Given the description of an element on the screen output the (x, y) to click on. 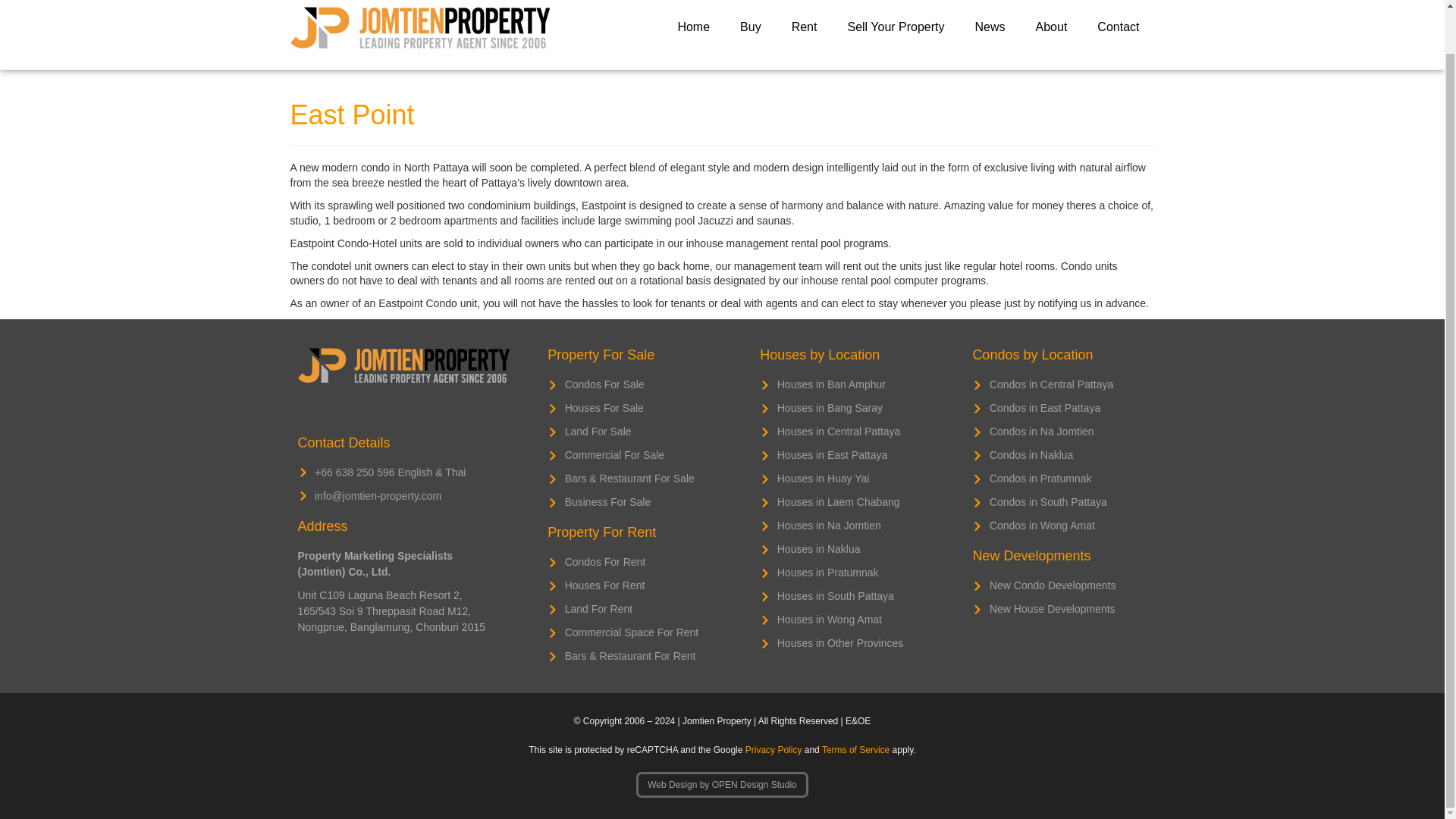
Business For Sale (634, 502)
Rent (804, 27)
Contact (1117, 27)
Commercial For Sale (634, 455)
About (1051, 27)
News (989, 27)
Sell Your Property (895, 27)
Houses For Sale (634, 408)
Condos For Sale (634, 384)
Condos For Rent (634, 562)
